Given the description of an element on the screen output the (x, y) to click on. 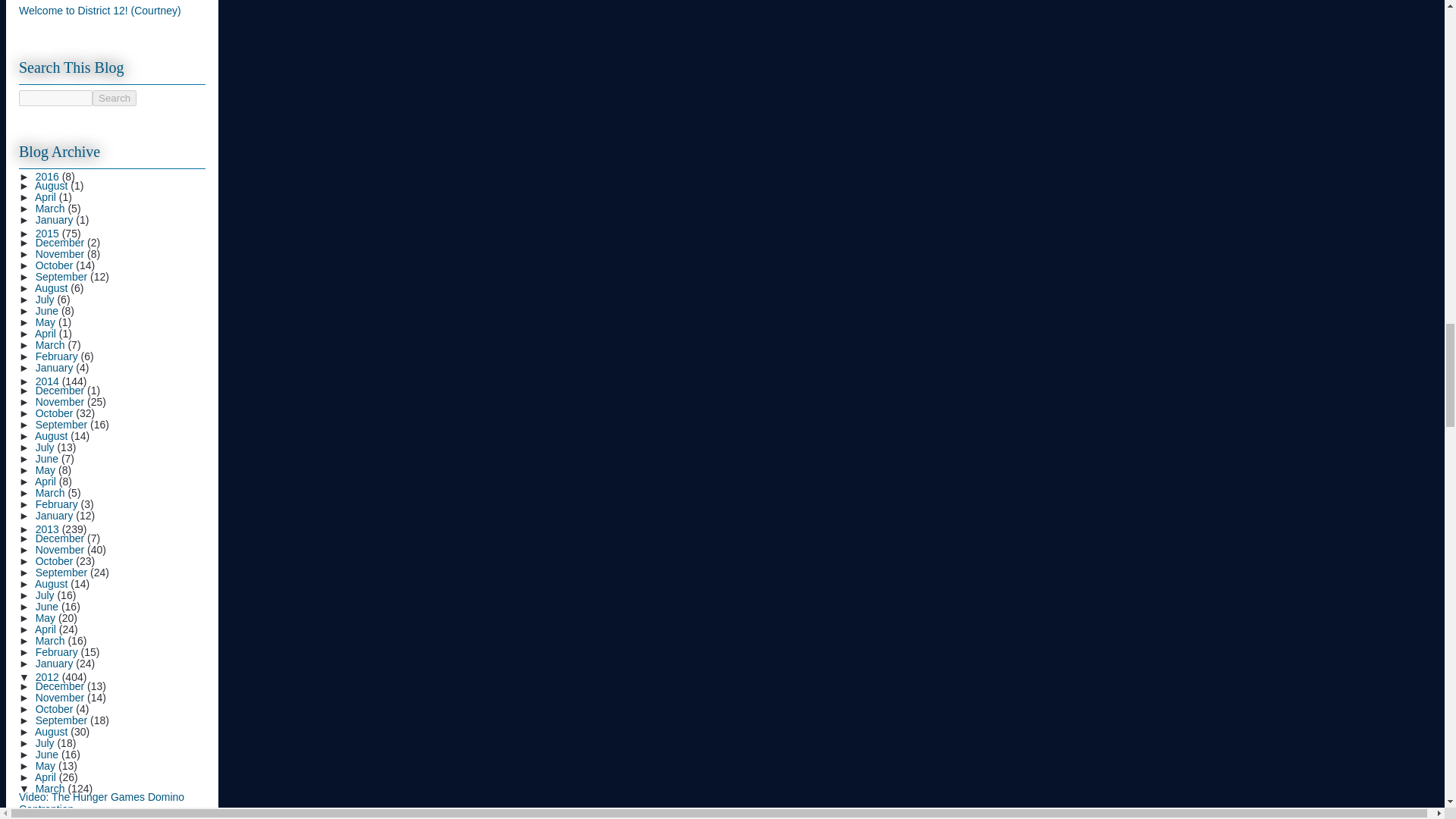
Search (114, 98)
Search (114, 98)
